Given the description of an element on the screen output the (x, y) to click on. 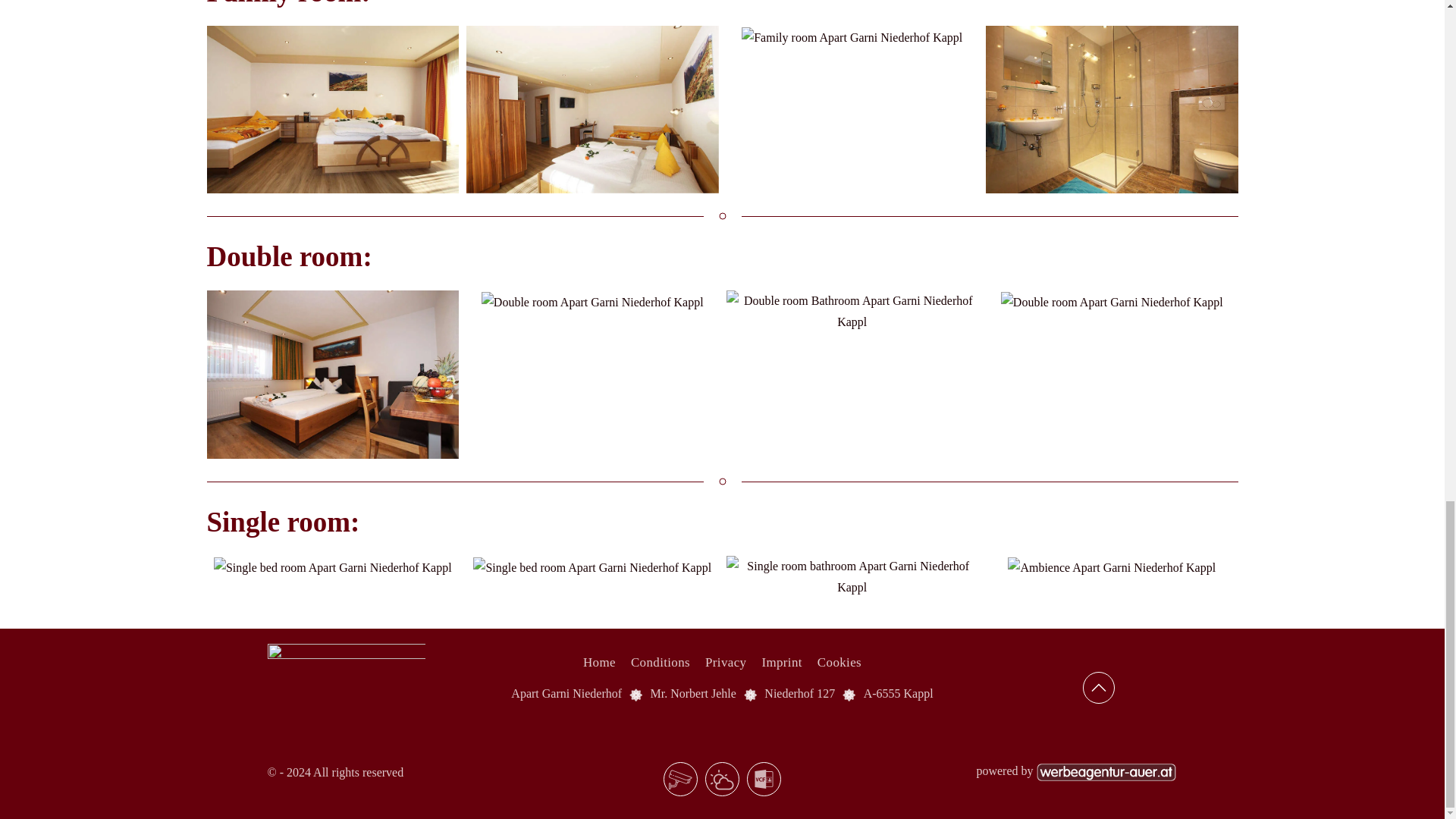
Webcam (680, 779)
Werbeagentur Auer - Tirol (1105, 770)
Home (599, 662)
Kontaktdaten speichern (763, 779)
